Given the description of an element on the screen output the (x, y) to click on. 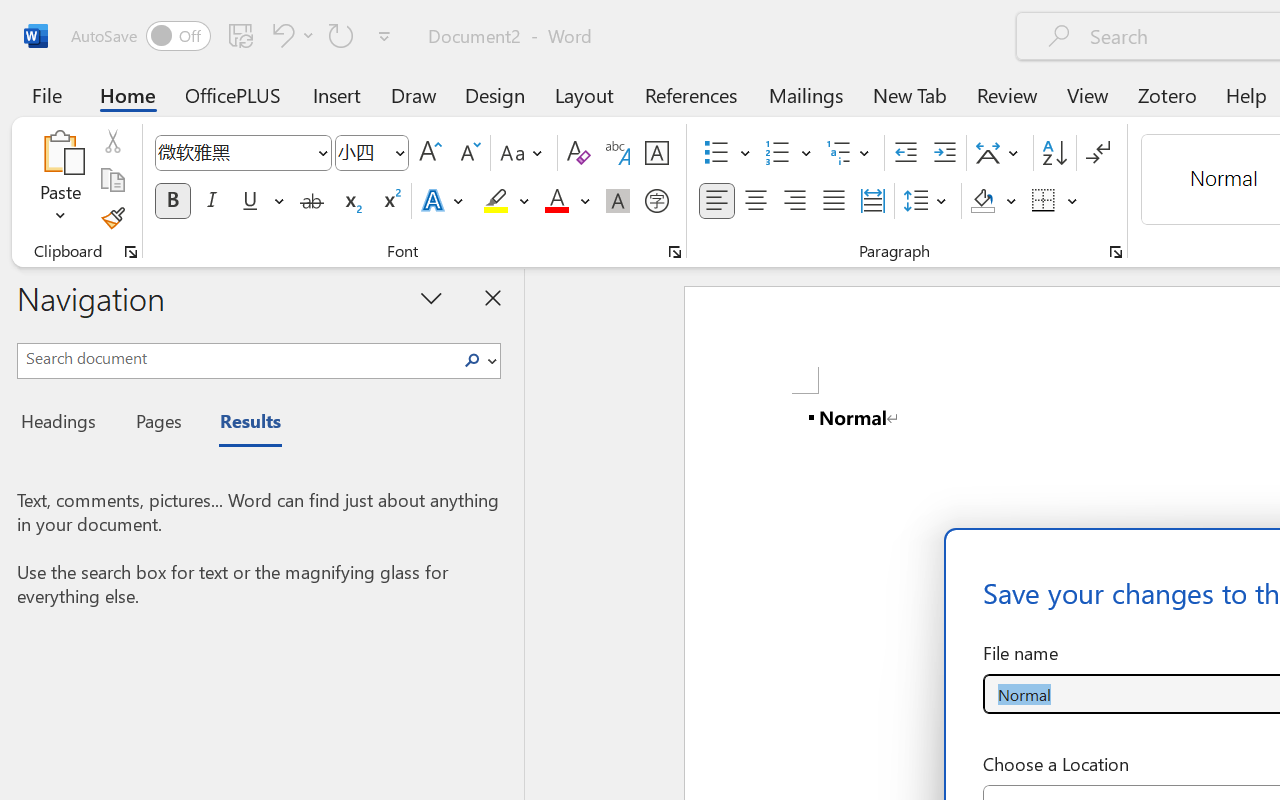
Character Border (656, 153)
Asian Layout (1000, 153)
Paste (60, 151)
Text Highlight Color (506, 201)
Save (241, 35)
Office Clipboard... (131, 252)
Numbering (778, 153)
View (1087, 94)
Subscript (350, 201)
Text Highlight Color Yellow (495, 201)
Task Pane Options (431, 297)
File Tab (46, 94)
Numbering (788, 153)
Undo Text Fill Effect (280, 35)
Copy (112, 179)
